Given the description of an element on the screen output the (x, y) to click on. 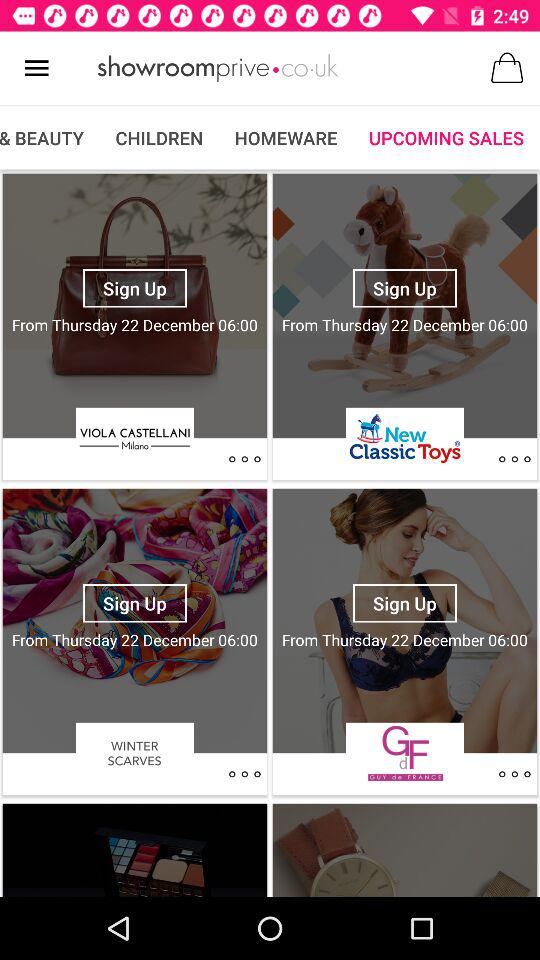
make advertisement (217, 67)
